Given the description of an element on the screen output the (x, y) to click on. 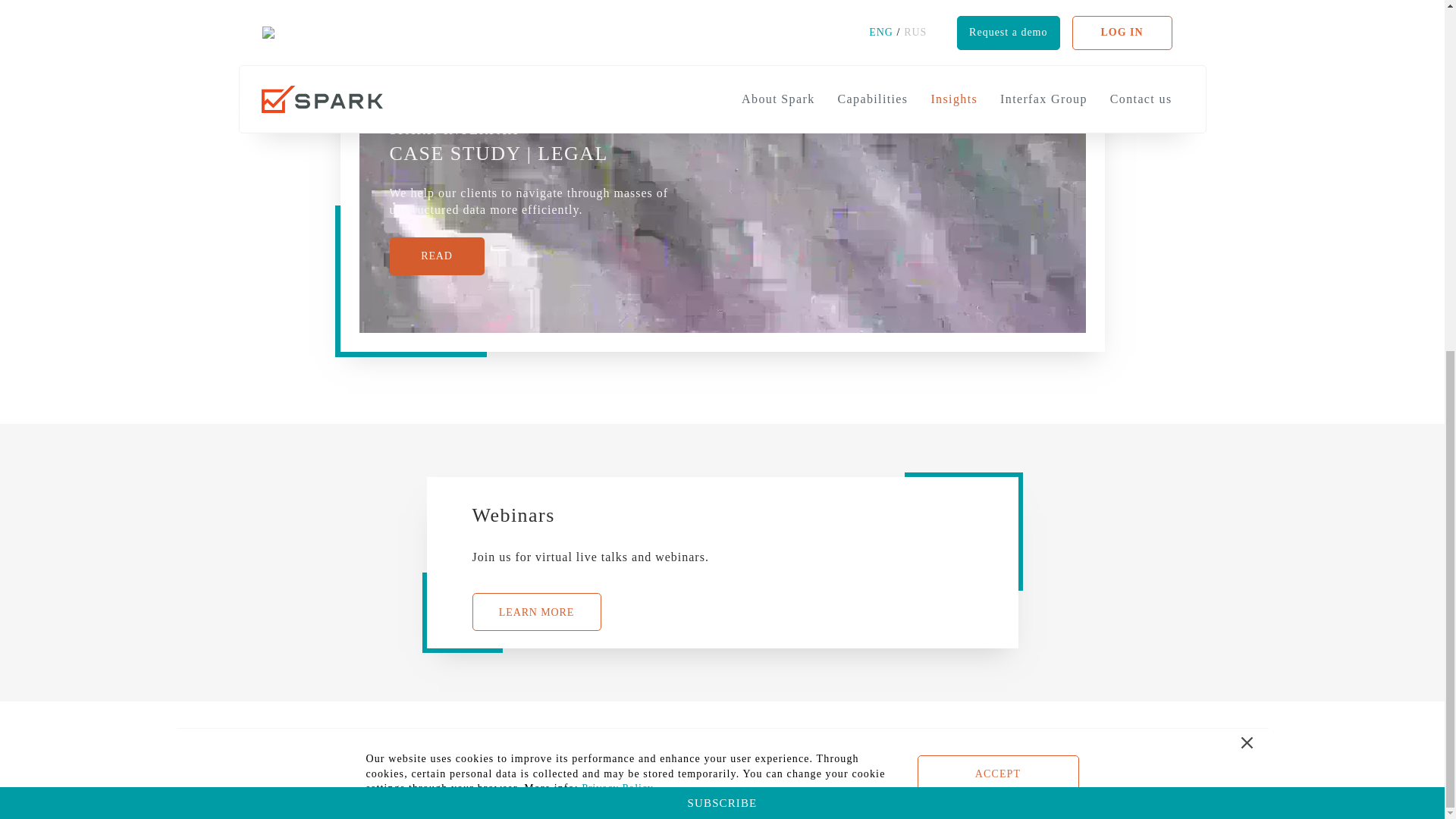
PRIVACY POLICY (993, 793)
CONTACT US (844, 747)
INTERFAX GROUP (719, 747)
CAPABILITIES (584, 746)
ABOUT SPARK (459, 747)
SITEMAP (1090, 793)
LOG IN (1077, 747)
HOME (363, 747)
Privacy Policy (616, 177)
REQUEST A DEMO (970, 747)
LEARN MORE (535, 611)
READ (437, 256)
